Given the description of an element on the screen output the (x, y) to click on. 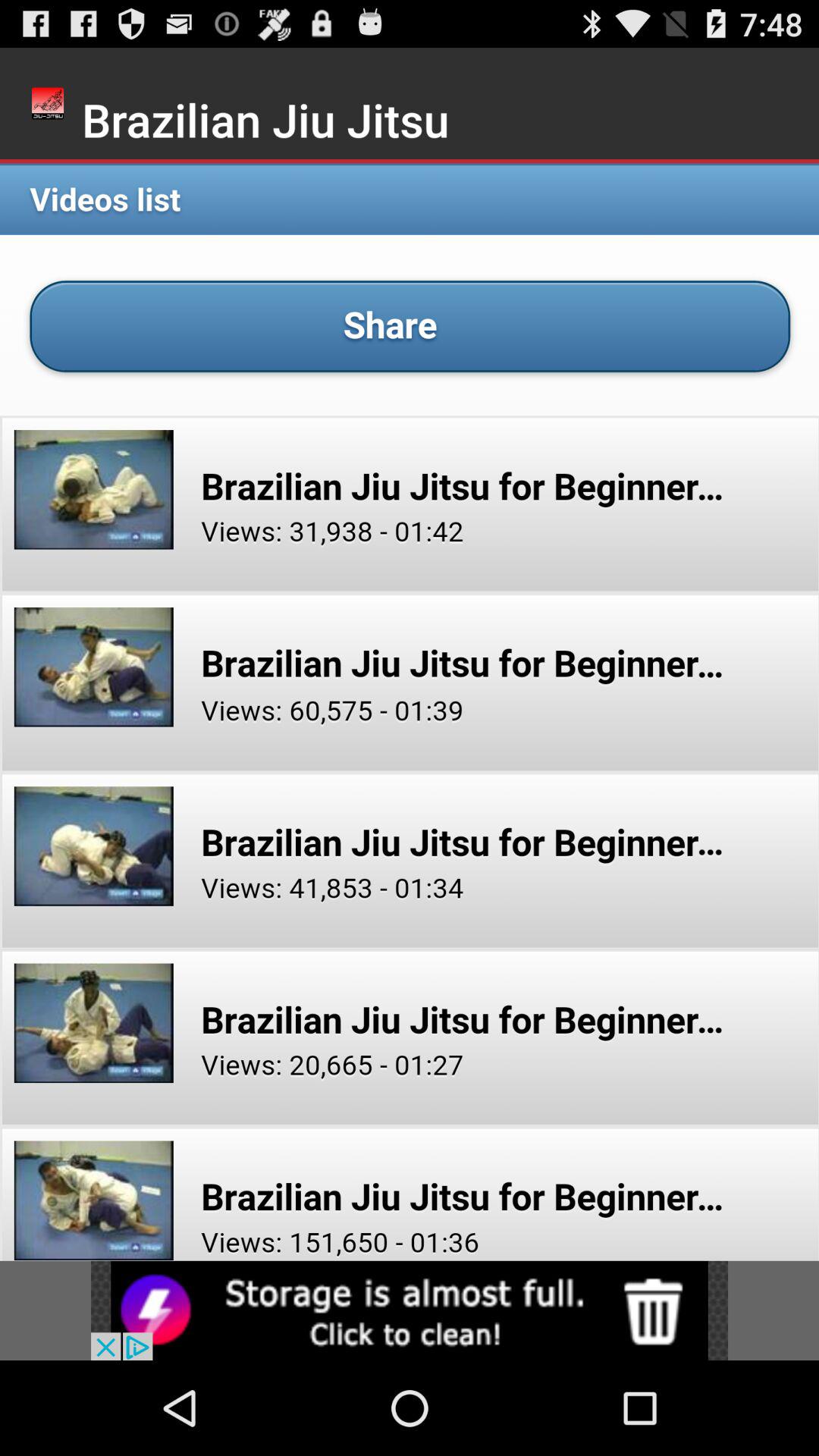
share brazilian jiu jitsu share in screen (409, 709)
